Given the description of an element on the screen output the (x, y) to click on. 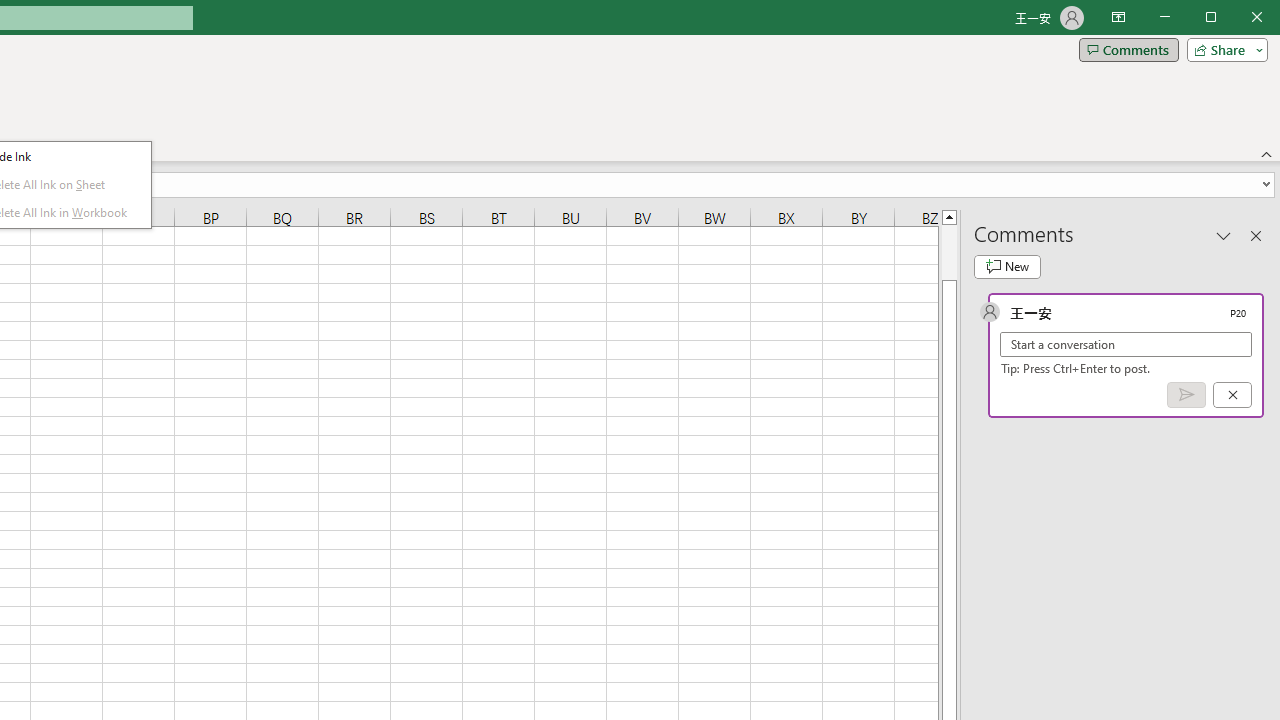
Cancel (1232, 395)
Page up (948, 252)
Post comment (Ctrl + Enter) (1186, 395)
Start a conversation (1126, 344)
